Given the description of an element on the screen output the (x, y) to click on. 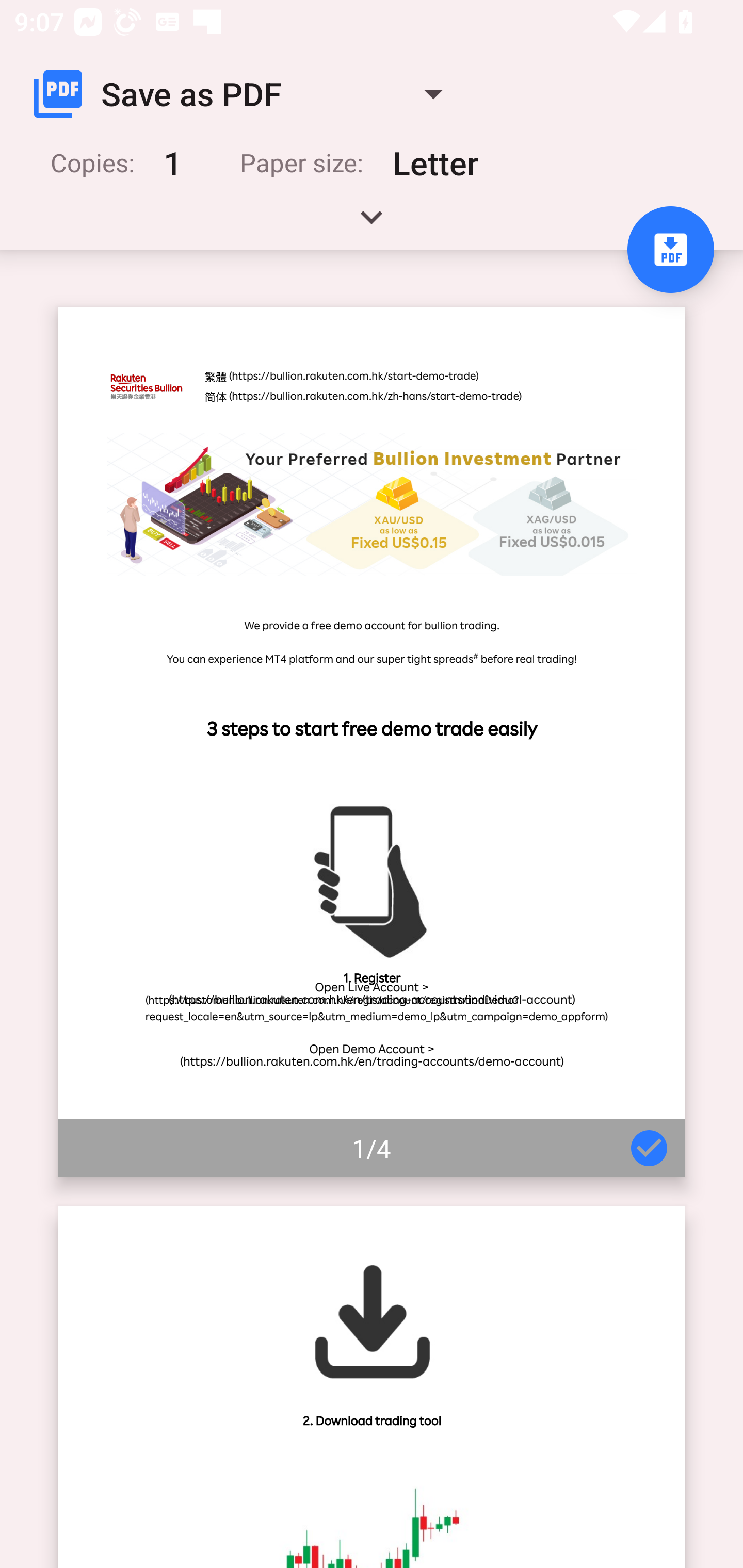
Save as PDF (245, 93)
Expand handle (371, 224)
Save to PDF (670, 249)
Page 1 of 4 1/4 (371, 742)
Page 2 of 4 (371, 1386)
